Given the description of an element on the screen output the (x, y) to click on. 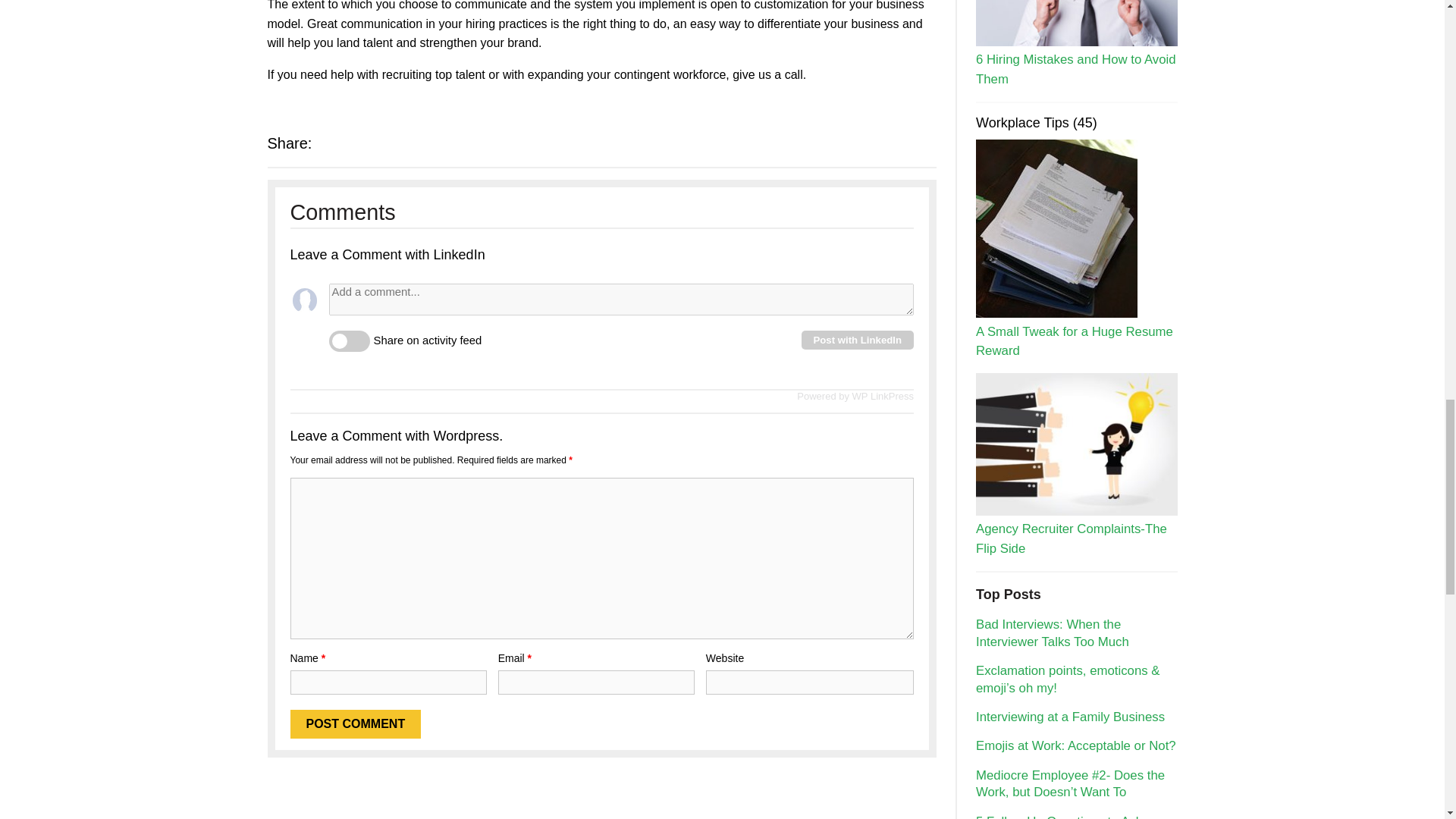
Post with LinkedIn (857, 339)
Post Comment (354, 724)
